Given the description of an element on the screen output the (x, y) to click on. 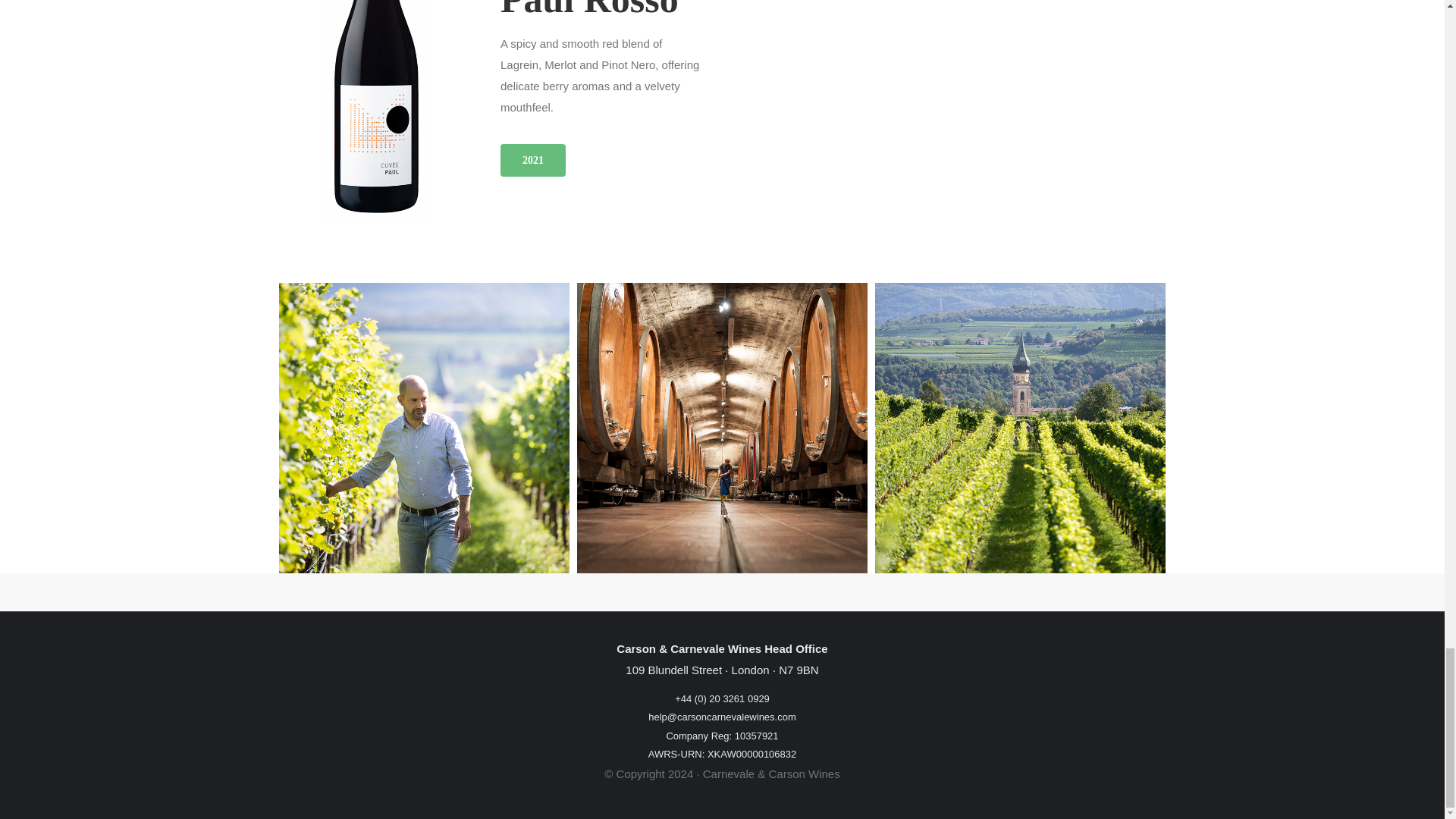
2021 (533, 160)
109 Blundell Street (674, 670)
N7 9BN (798, 670)
London (751, 670)
